Given the description of an element on the screen output the (x, y) to click on. 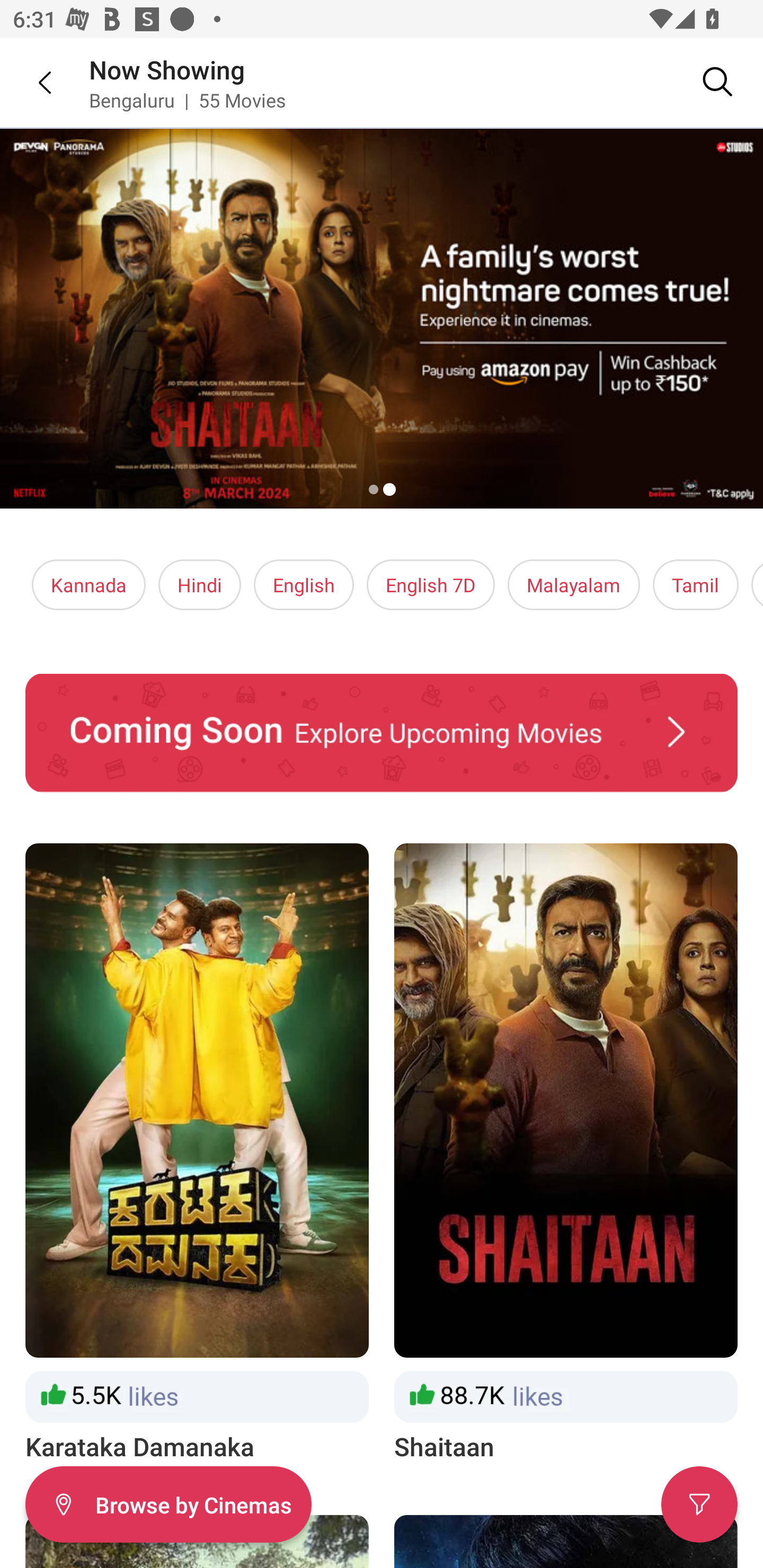
Back (31, 82)
Now Showing (166, 68)
Bengaluru  |  55 Movies (187, 99)
Kannada (88, 584)
Hindi (199, 584)
English (304, 584)
English 7D (431, 584)
Malayalam (573, 584)
Tamil (695, 584)
Karataka Damanaka (196, 1153)
Shaitaan (565, 1153)
Filter Browse by Cinemas (168, 1504)
Filter (699, 1504)
